Given the description of an element on the screen output the (x, y) to click on. 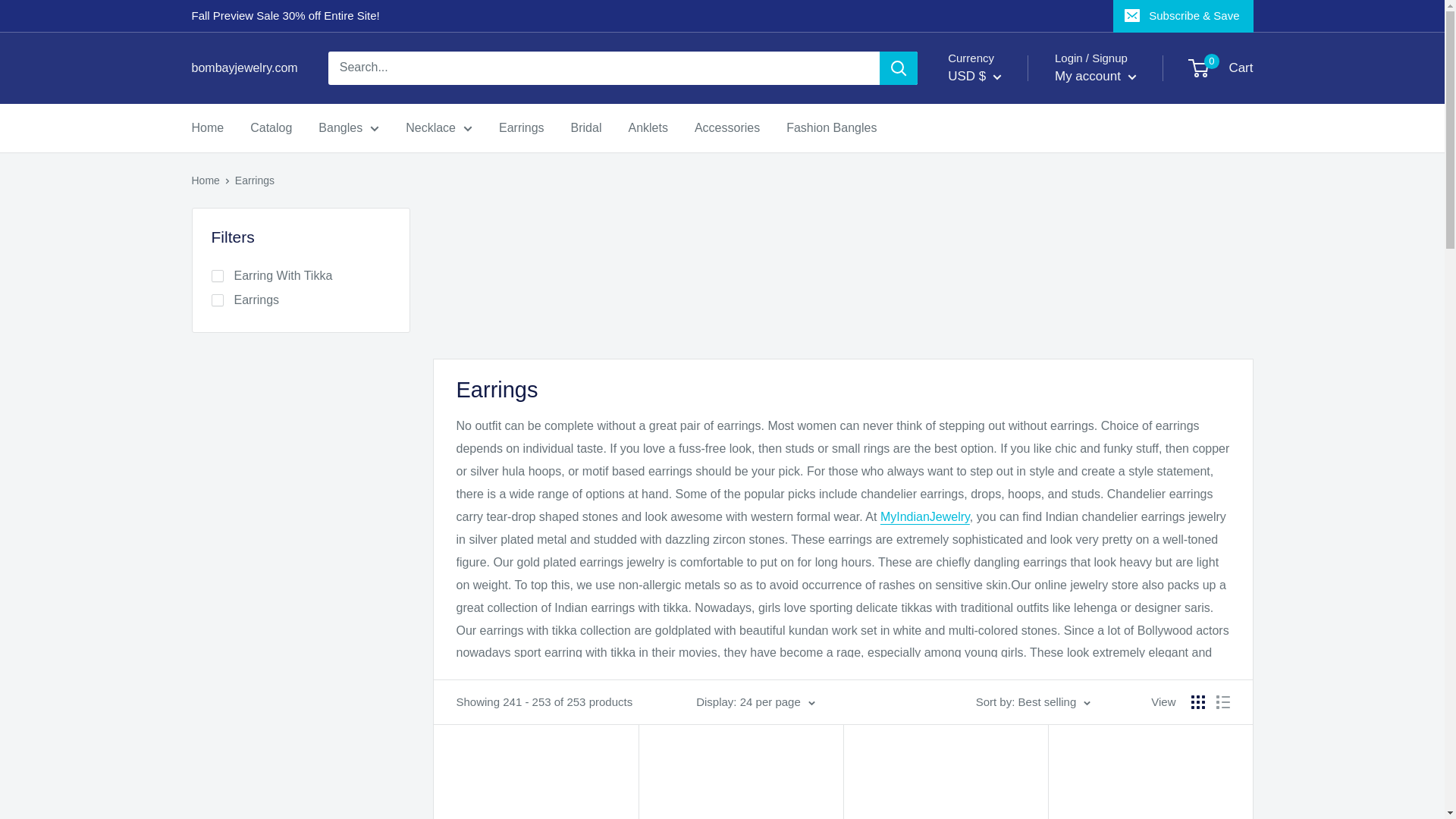
AMD (998, 323)
ALL (998, 299)
on (216, 275)
ANG (998, 346)
AED (998, 253)
AFN (998, 276)
on (216, 300)
bombayjewelry.com (243, 67)
AUD (998, 370)
